Given the description of an element on the screen output the (x, y) to click on. 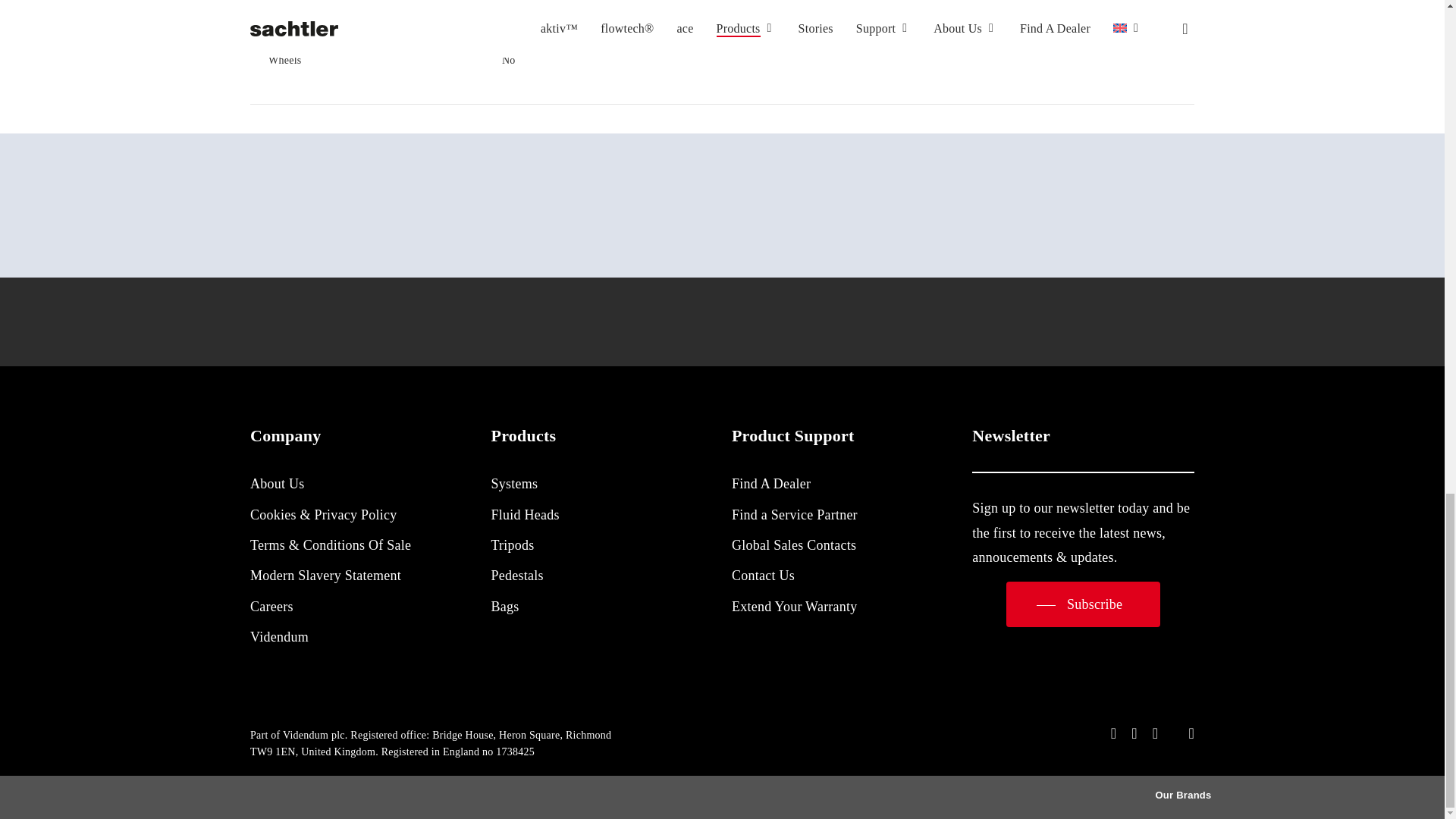
Visit Videndum's website (277, 796)
